Given the description of an element on the screen output the (x, y) to click on. 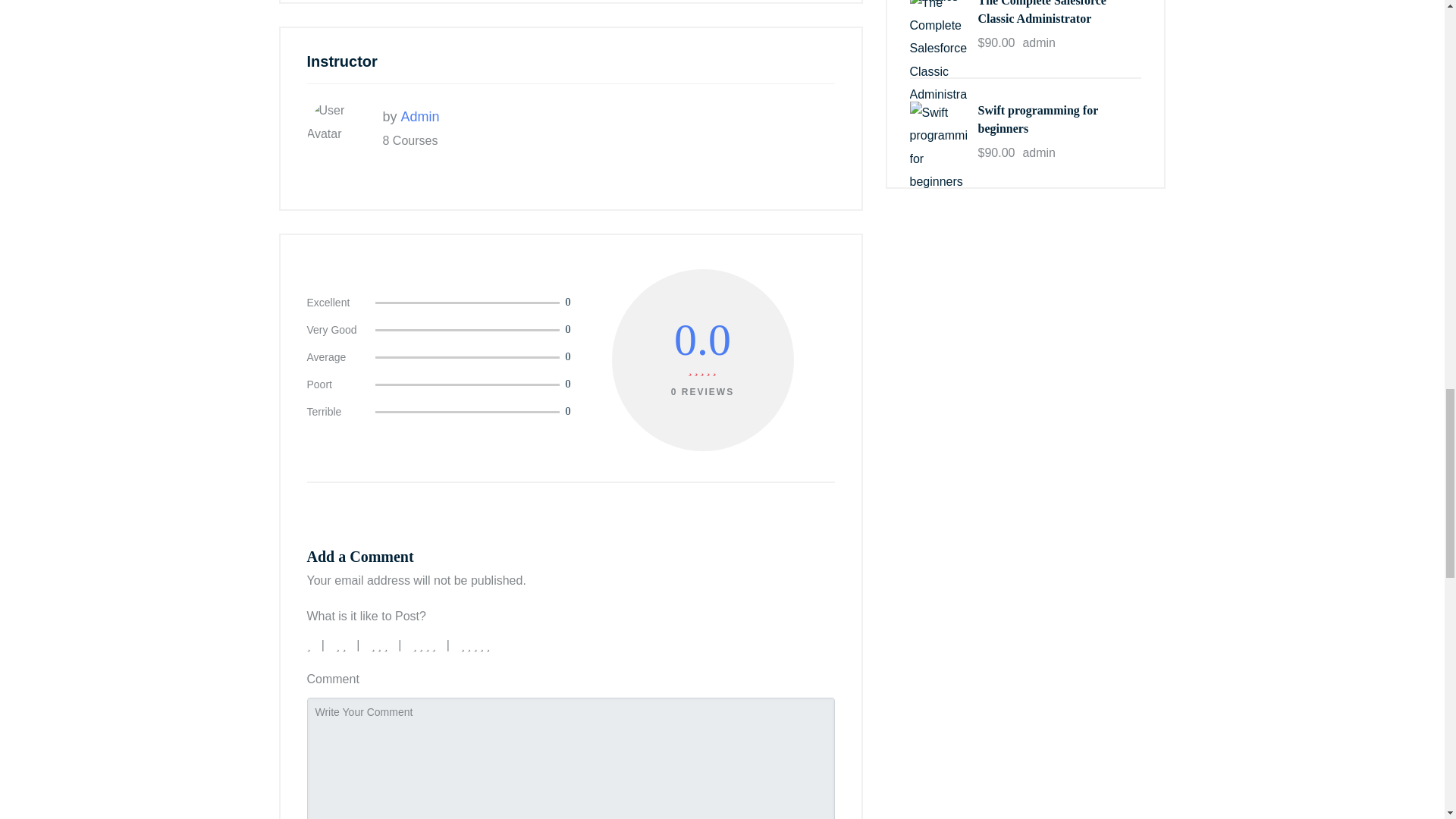
Very good - 4 stars (425, 644)
Good - 3 stars (380, 644)
Bad - 2 stars (342, 644)
Excellent - 5 stars (477, 644)
